Given the description of an element on the screen output the (x, y) to click on. 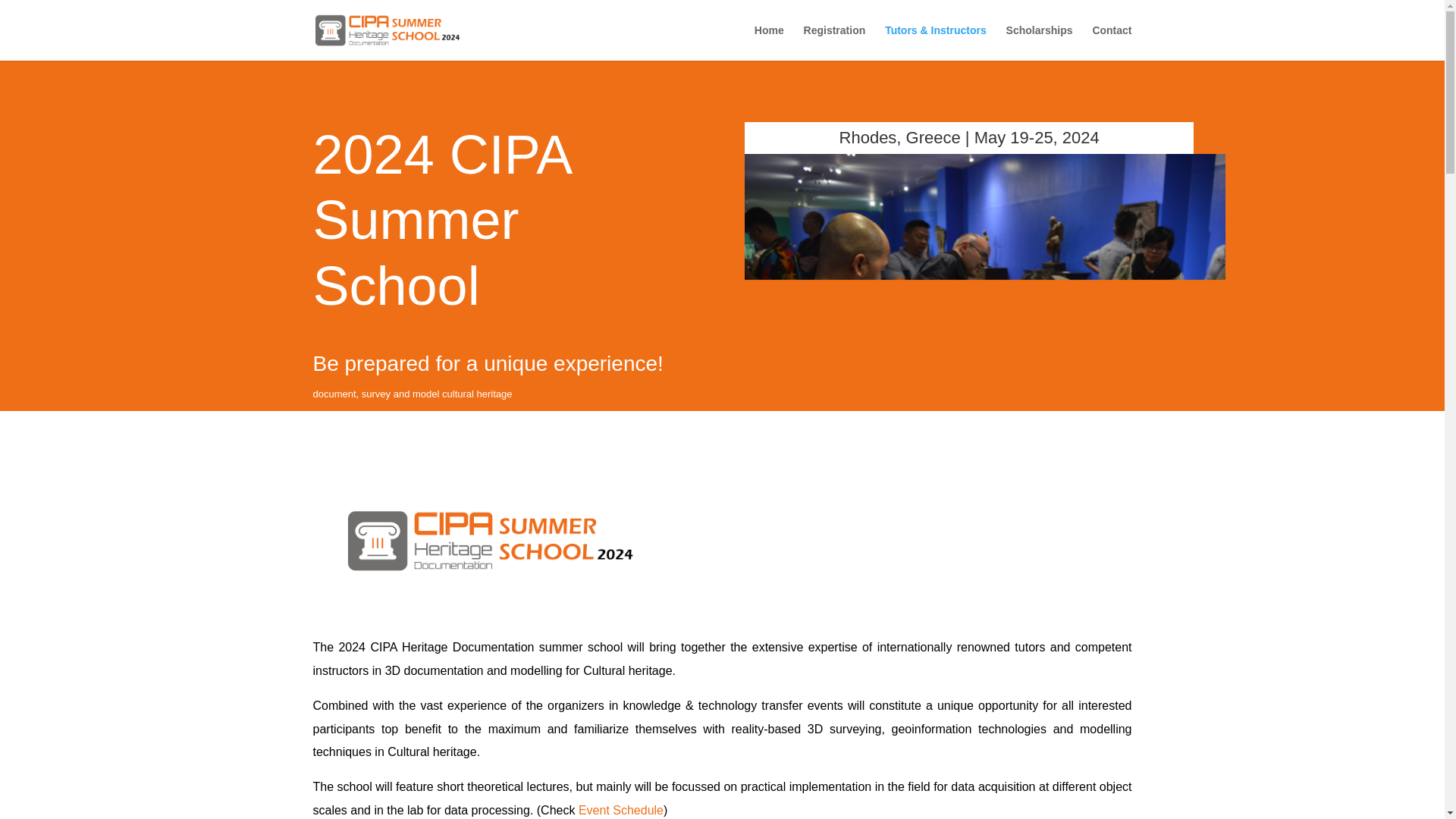
Scholarships (1039, 42)
Event Schedule (620, 809)
Contact (1111, 42)
Registration (834, 42)
